Given the description of an element on the screen output the (x, y) to click on. 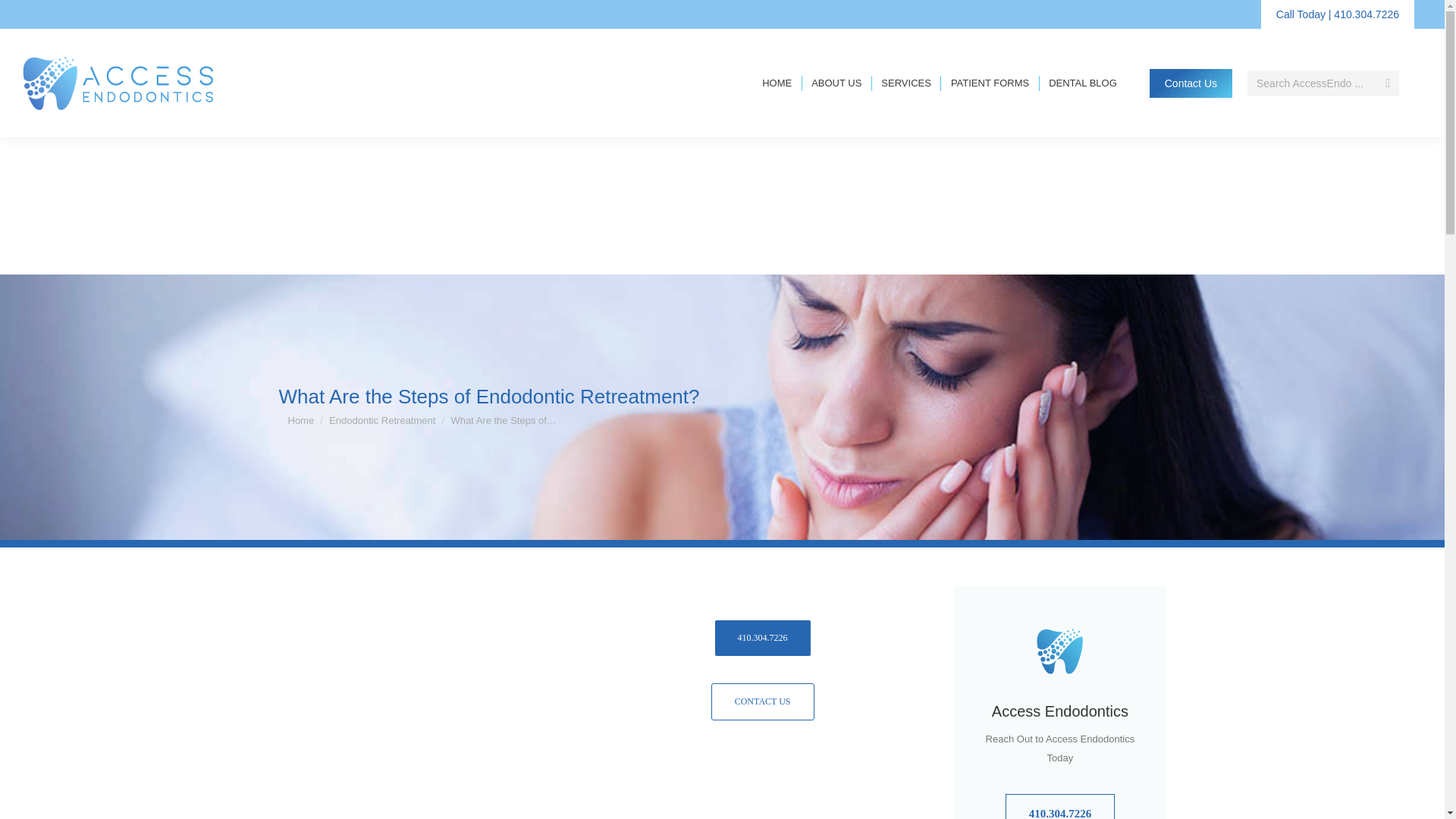
ABOUT US (835, 82)
Search form (1323, 82)
Contact Us (1190, 82)
HOME (776, 82)
Endodontic Retreatment (382, 419)
PATIENT FORMS (989, 82)
DENTAL BLOG (1082, 82)
Contact Us (762, 701)
410.304.7226 (762, 637)
Go! (24, 15)
Home (301, 419)
SERVICES (905, 82)
